Given the description of an element on the screen output the (x, y) to click on. 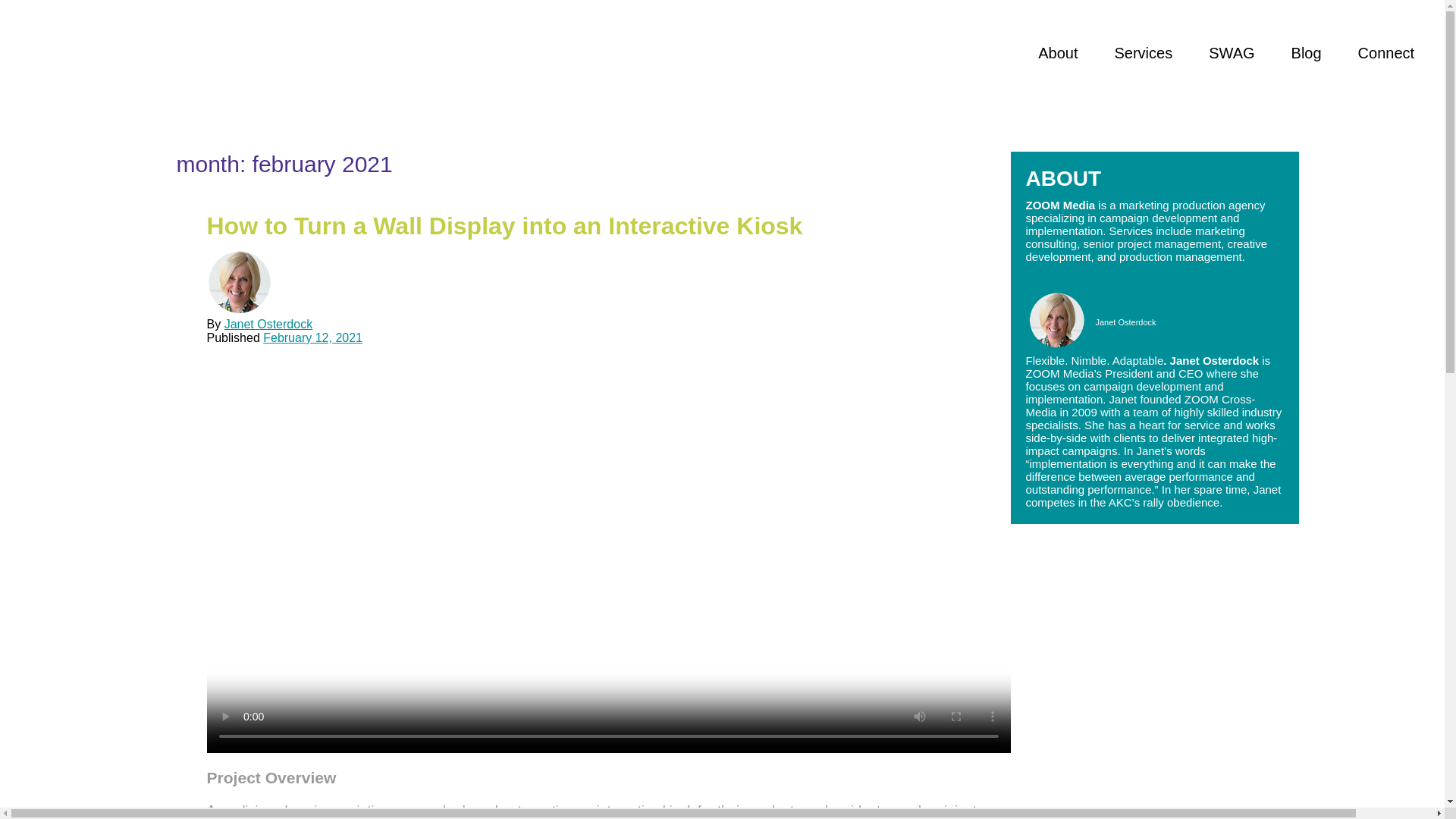
About (1057, 52)
ZOOM Media (333, 53)
How to Turn a Wall Display into an Interactive Kiosk (504, 225)
February 12, 2021 (312, 337)
SWAG (1230, 52)
Blog (1306, 52)
Services (1144, 52)
Janet Osterdock (268, 323)
